Given the description of an element on the screen output the (x, y) to click on. 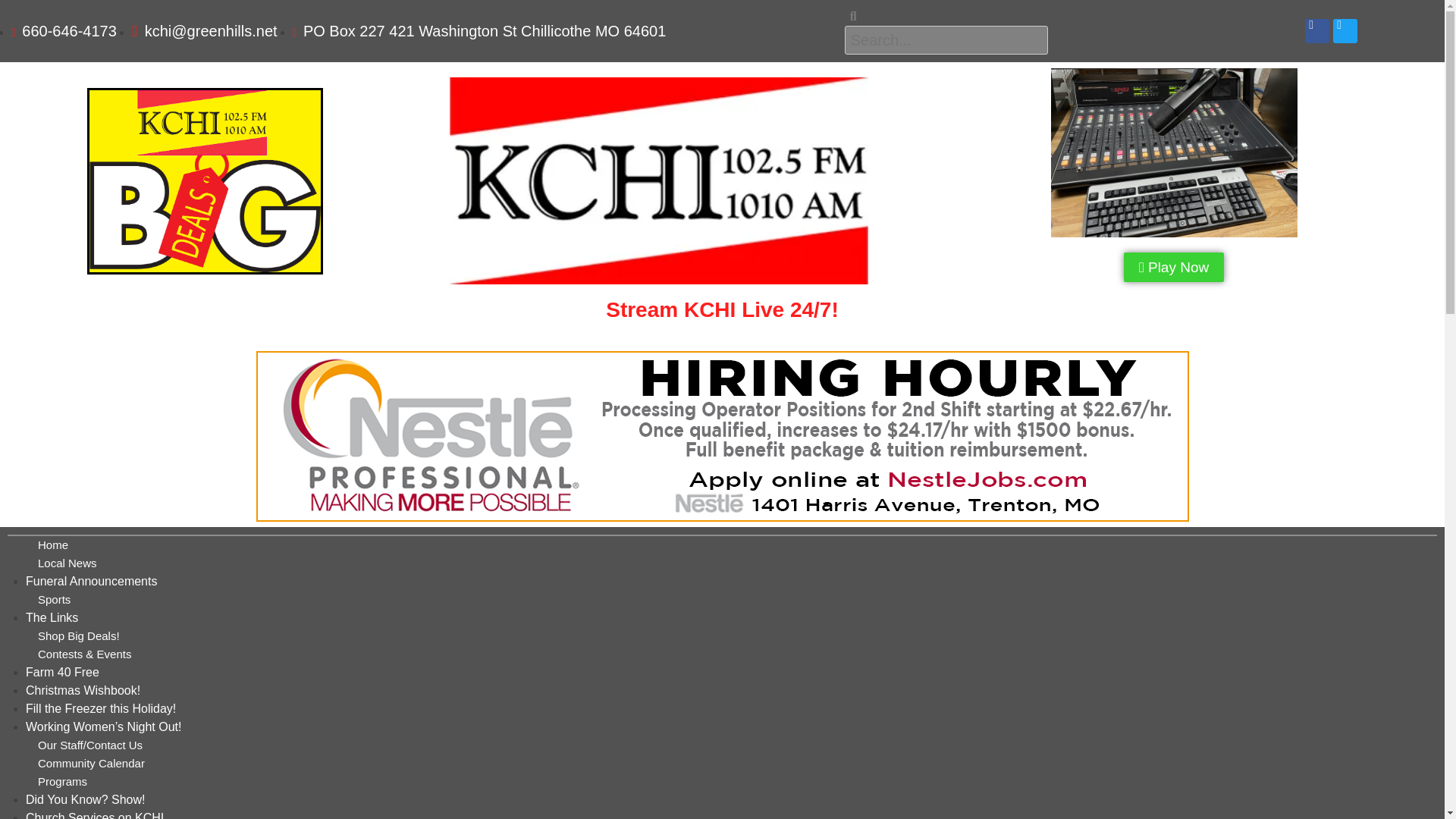
Funeral Announcements (91, 581)
Fill the Freezer this Holiday! (101, 707)
Did You Know? Show! (85, 799)
Shop Big Deals! (78, 635)
Christmas Wishbook! (82, 689)
Programs (62, 781)
Church Services on KCHI (94, 815)
Local News (67, 562)
Farm 40 Free (62, 671)
Play Now (1174, 266)
The Links (52, 617)
Home (53, 544)
Sports (53, 599)
Community Calendar (90, 763)
